Given the description of an element on the screen output the (x, y) to click on. 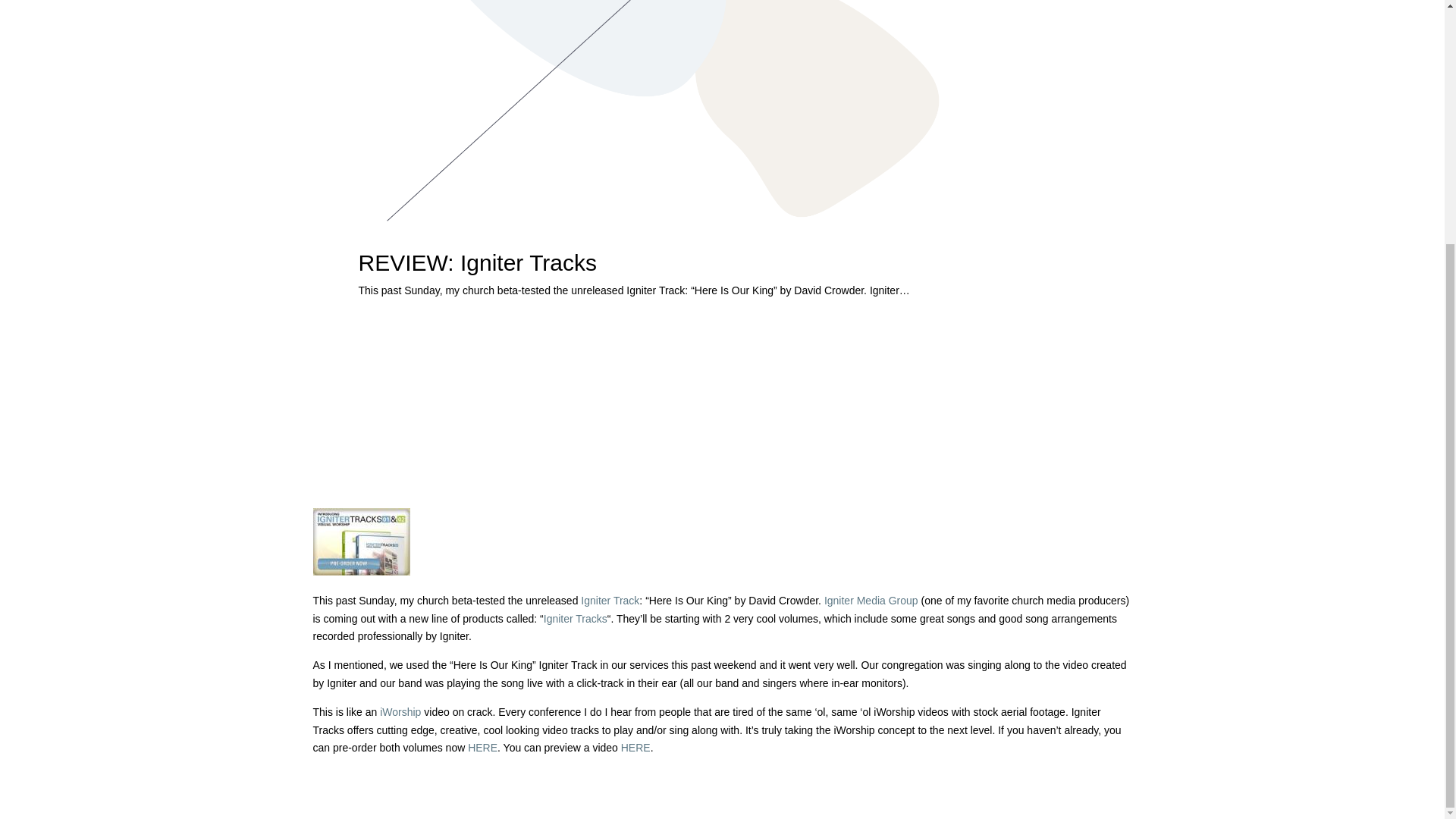
HERE (482, 747)
Igniter Media Group (871, 600)
Igniter Track (609, 600)
iWorship (400, 711)
Igniter Tracks (575, 618)
HERE (635, 747)
